Given the description of an element on the screen output the (x, y) to click on. 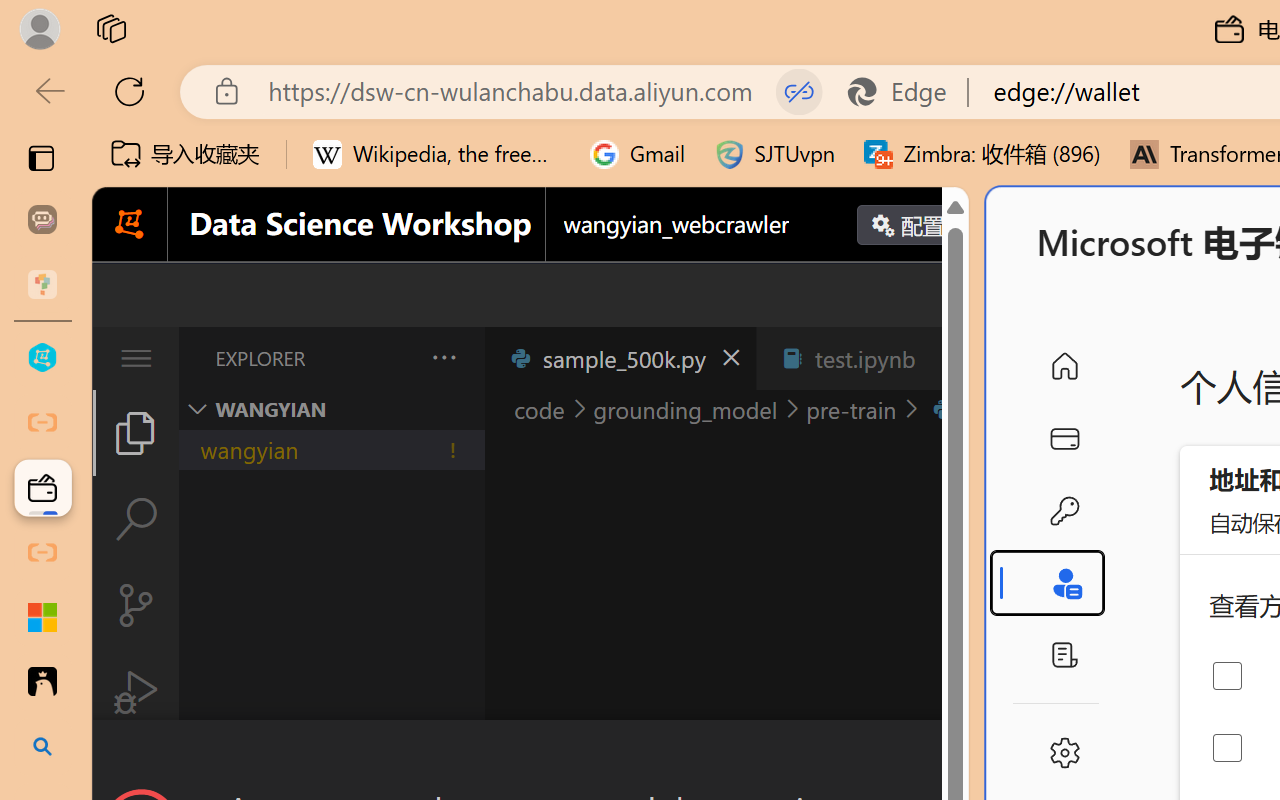
sample_500k.py (619, 358)
Edge (905, 91)
Class: menubar compact overflow-menu-only (135, 358)
Gmail (637, 154)
Explorer Section: wangyian (331, 409)
